Given the description of an element on the screen output the (x, y) to click on. 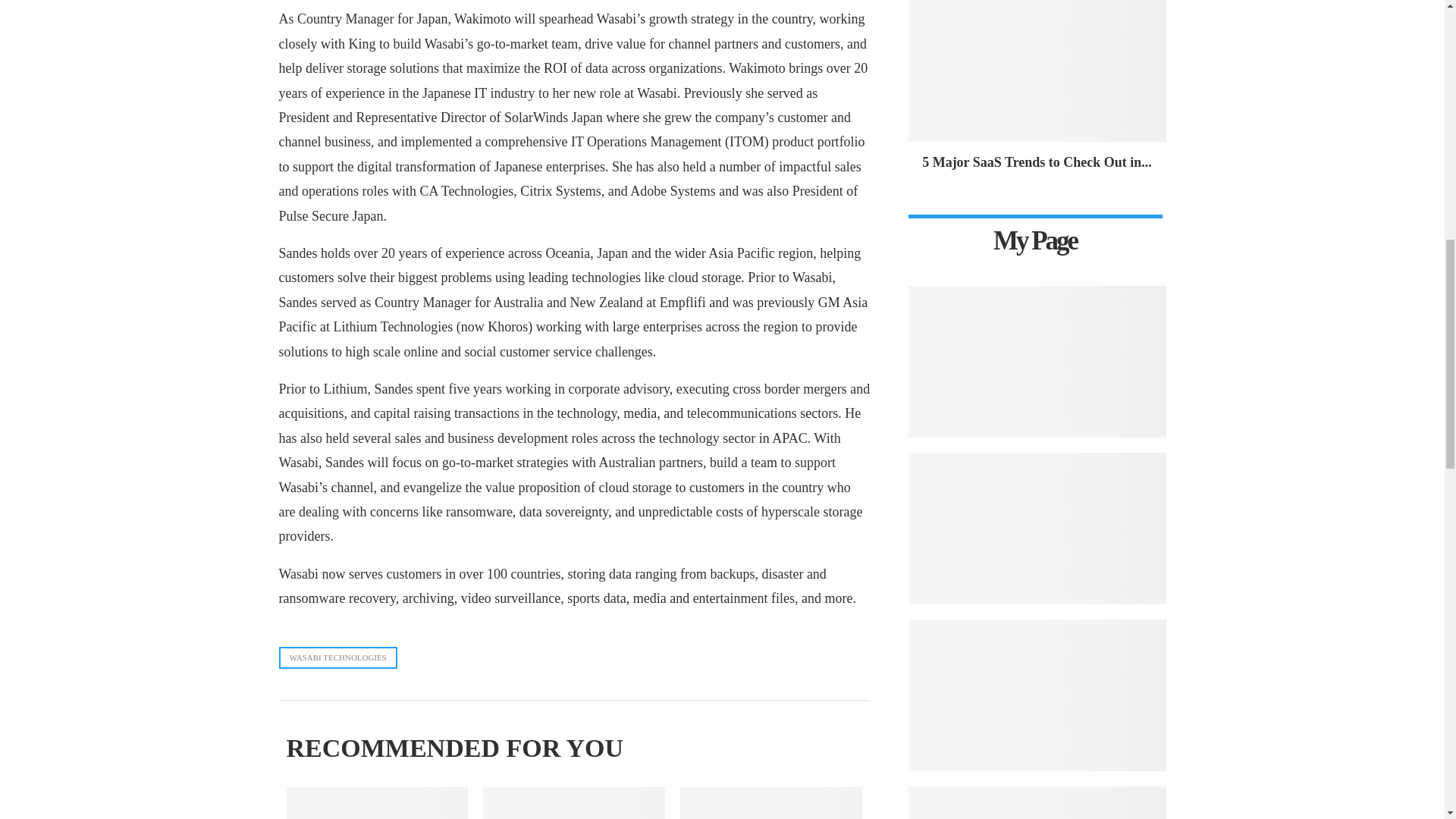
5 Major SaaS Trends to Check Out in 2021 (1036, 161)
5 Major SaaS Trends to Check Out in 2021 (1037, 70)
